Given the description of an element on the screen output the (x, y) to click on. 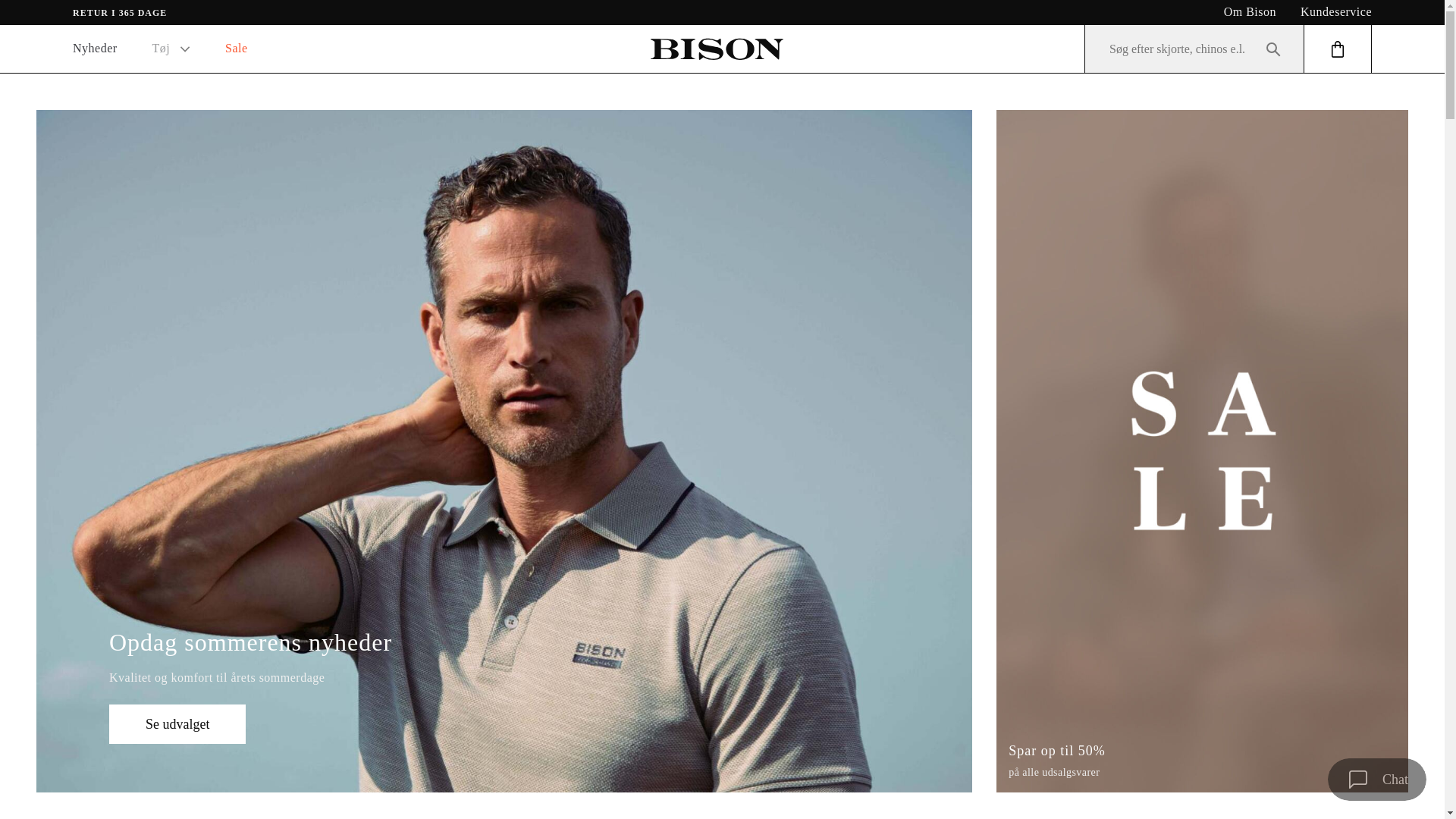
Om Bison (1250, 11)
Om Bison (1250, 11)
Se udvalget (177, 723)
Kurv (1337, 48)
Nyheder (95, 48)
Kundeservice (1335, 11)
Sale (236, 48)
Nyheder (95, 48)
Kundeservice (1335, 11)
Sale (236, 48)
